Given the description of an element on the screen output the (x, y) to click on. 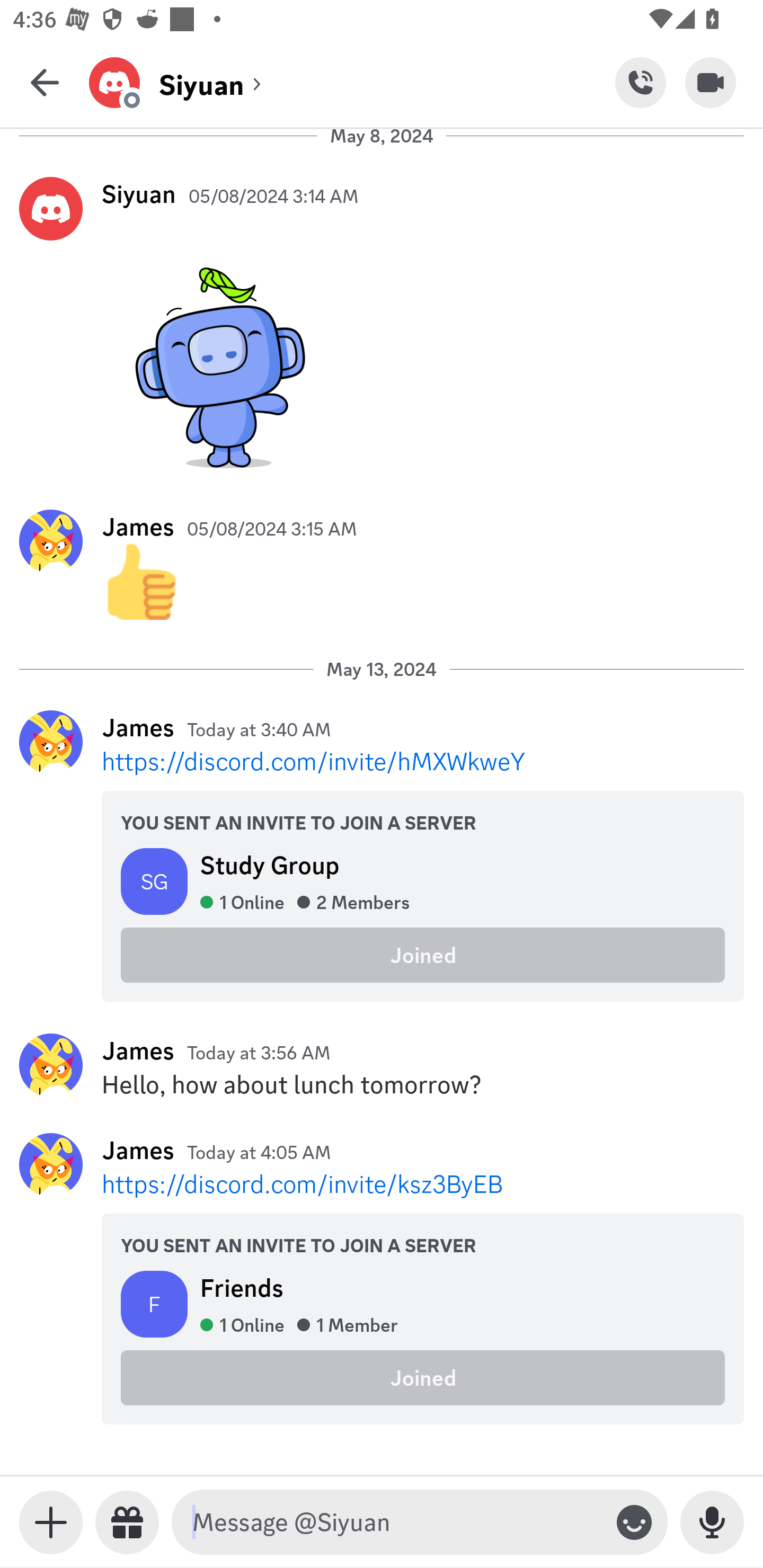
Siyuan (channel) Siyuan Siyuan (channel) (351, 82)
Back (44, 82)
Start Voice Call (640, 82)
Start Video Call (710, 82)
Siyuan 05/08/2024 3:14 AM (381, 327)
Siyuan (138, 193)
James (137, 526)
James (137, 727)
Joined (422, 955)
James (137, 1050)
James (137, 1149)
